Given the description of an element on the screen output the (x, y) to click on. 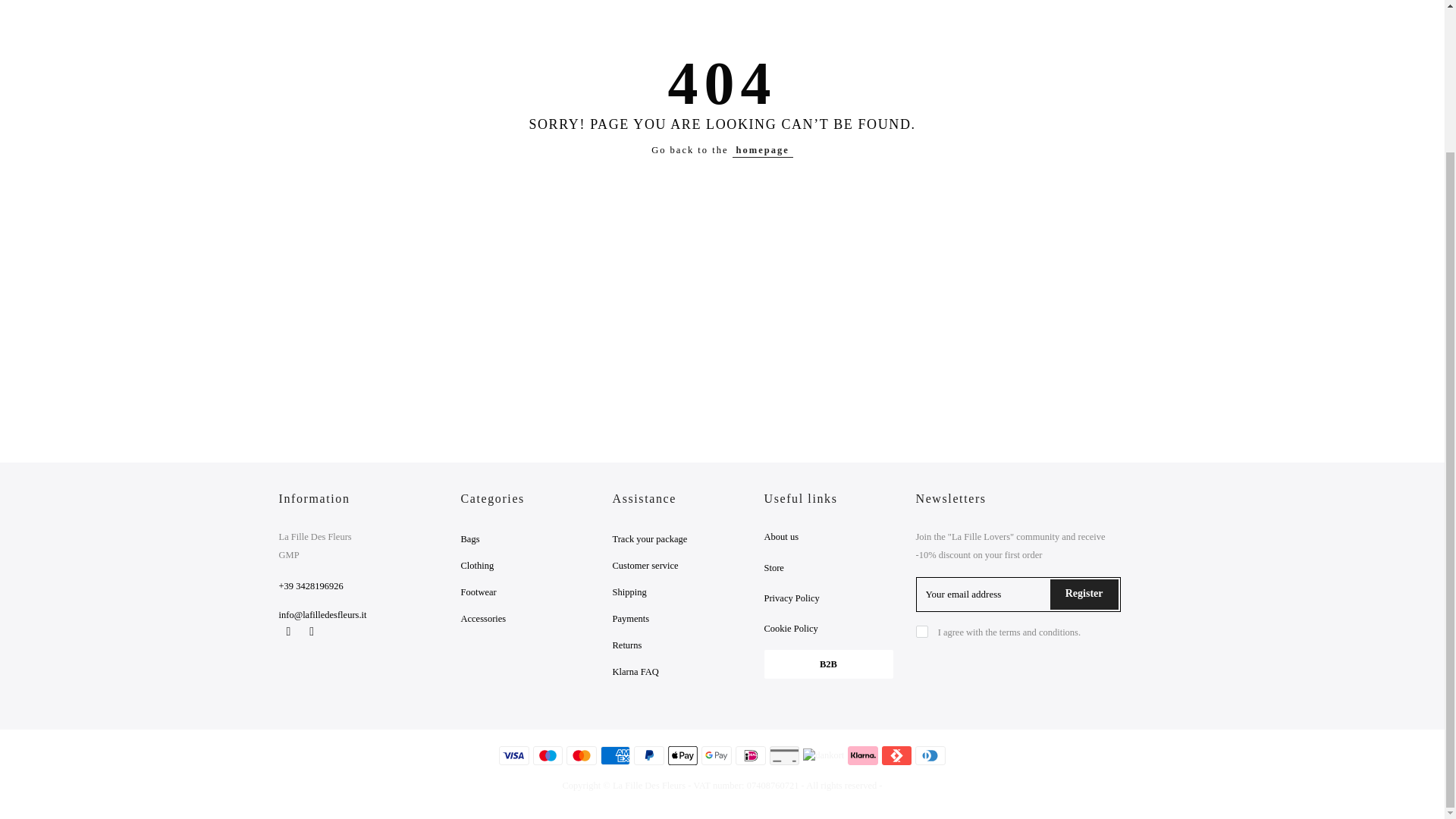
homepage (762, 150)
